Given the description of an element on the screen output the (x, y) to click on. 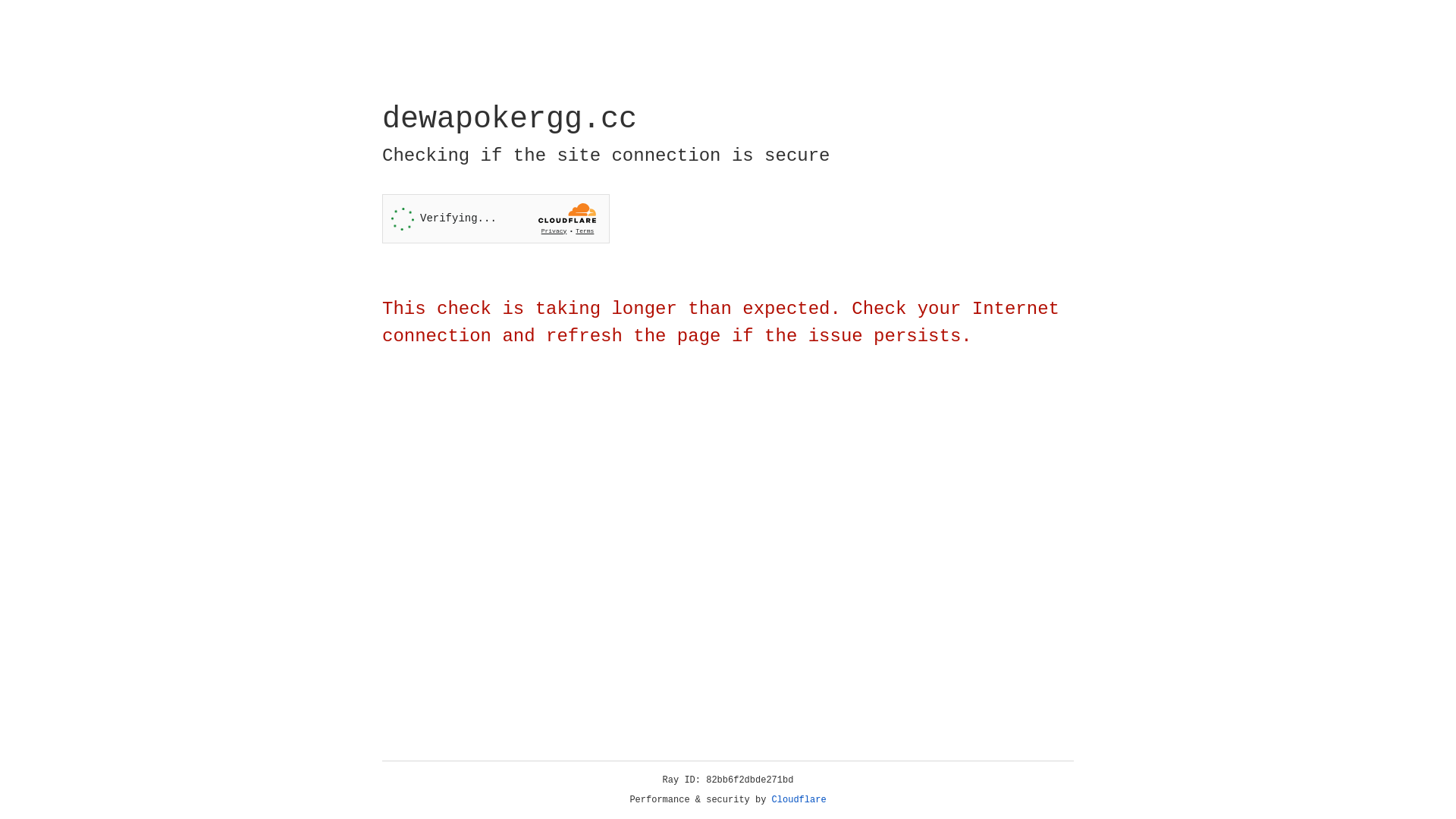
Widget containing a Cloudflare security challenge Element type: hover (495, 218)
Cloudflare Element type: text (798, 799)
